Given the description of an element on the screen output the (x, y) to click on. 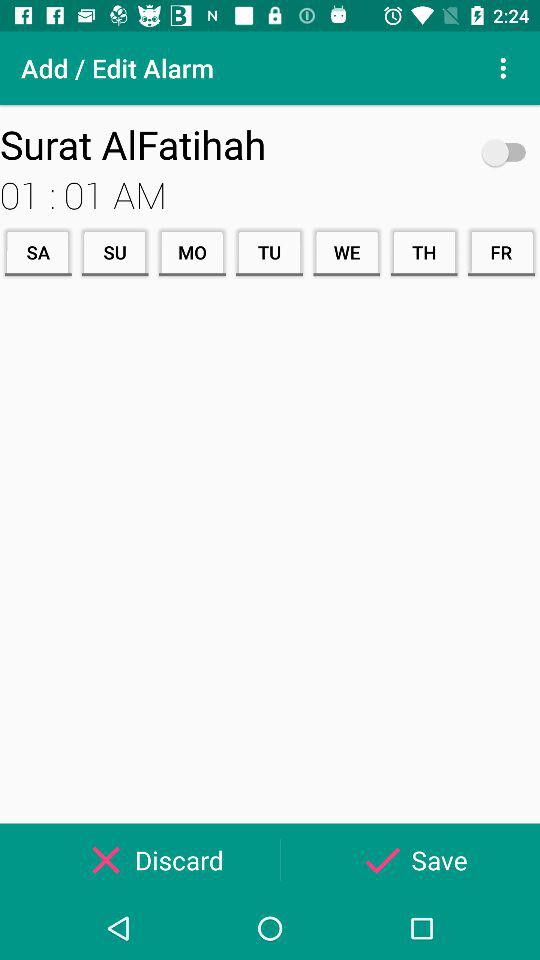
turn on the item below 01 : 01 am (423, 251)
